Given the description of an element on the screen output the (x, y) to click on. 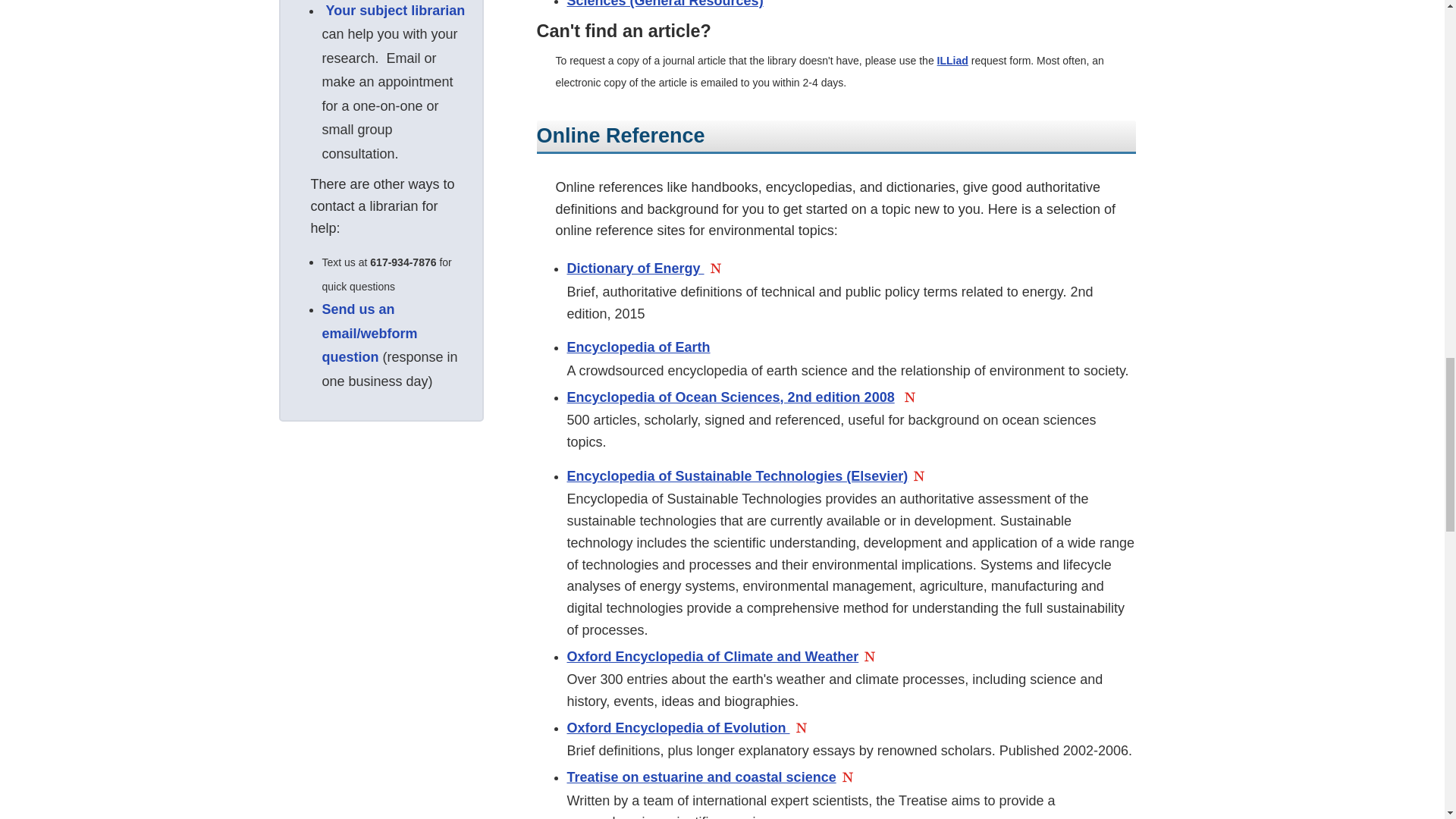
Your subject librarian (395, 10)
